Given the description of an element on the screen output the (x, y) to click on. 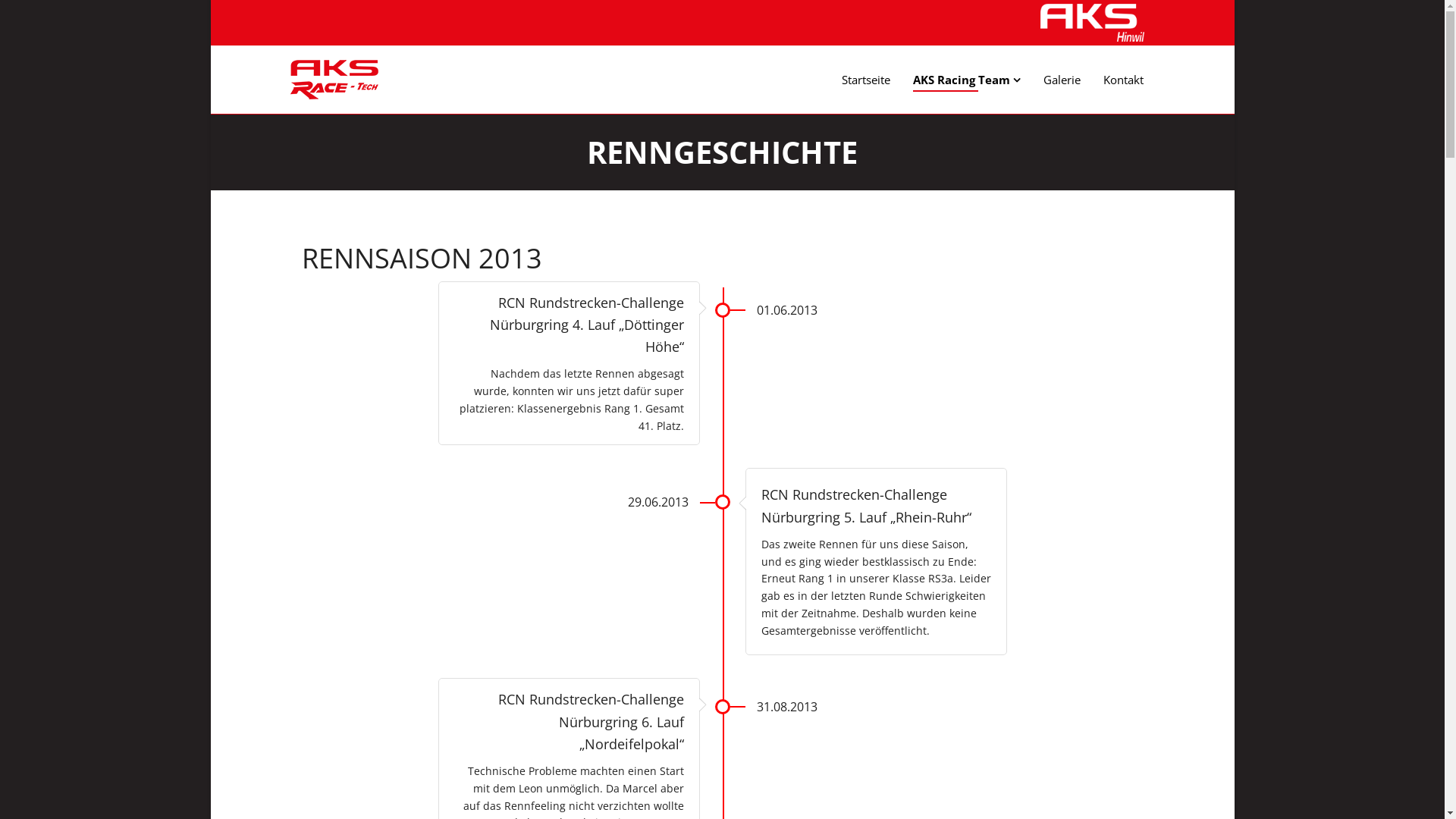
Kontakt Element type: text (1123, 79)
AKS Racing Team Element type: text (965, 79)
Startseite Element type: text (864, 79)
Galerie Element type: text (1061, 79)
